Given the description of an element on the screen output the (x, y) to click on. 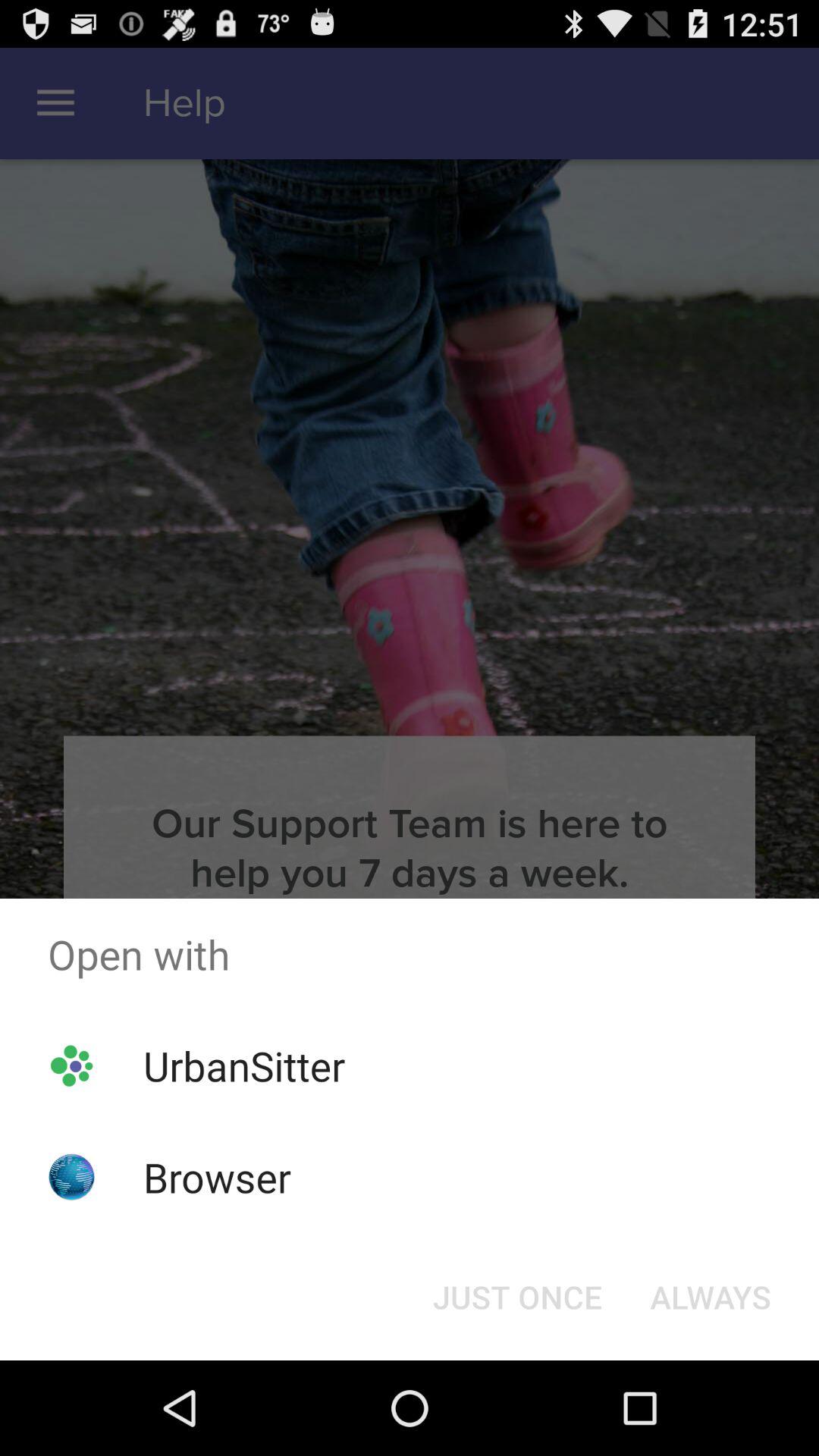
open button at the bottom right corner (710, 1296)
